Given the description of an element on the screen output the (x, y) to click on. 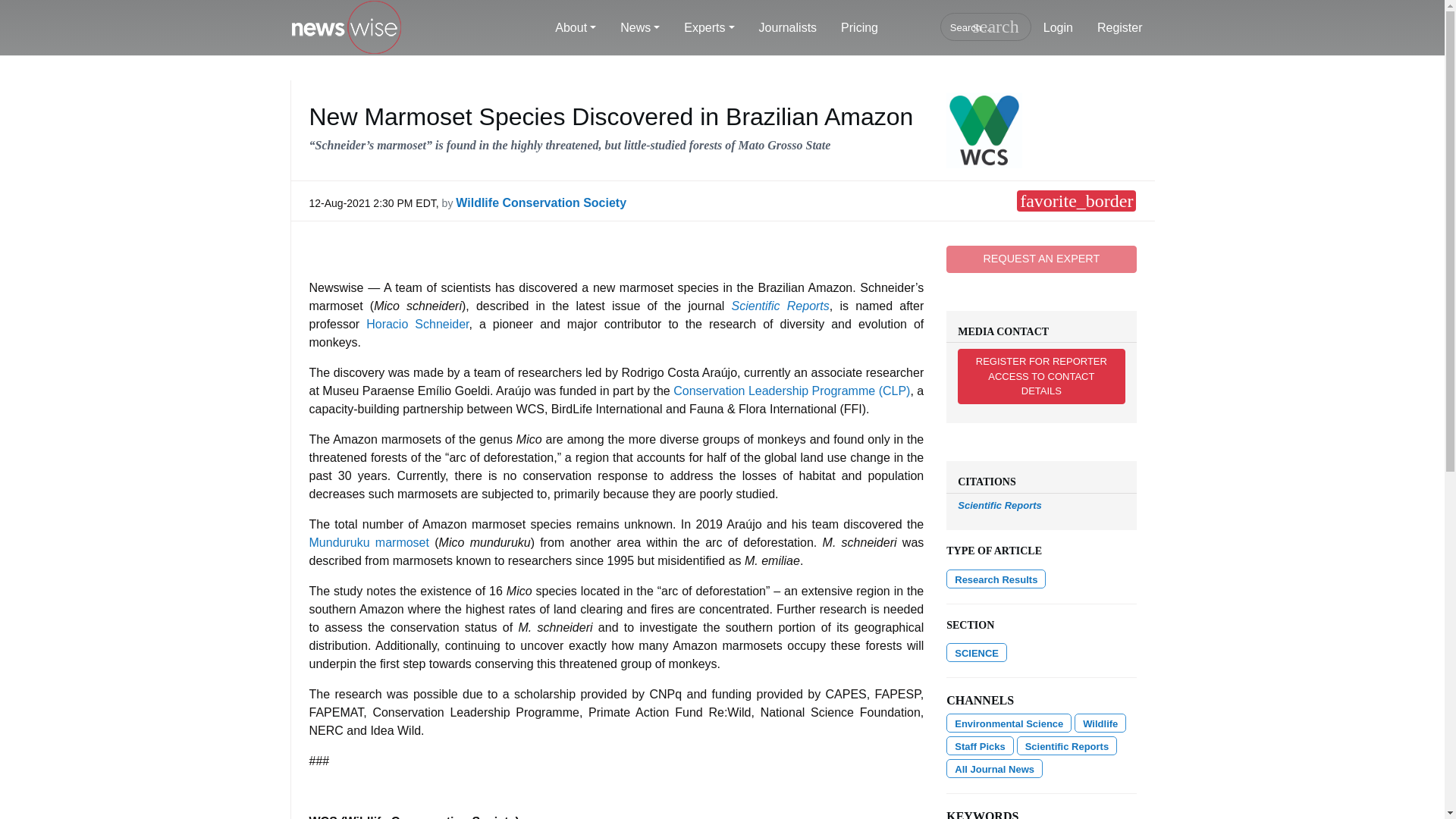
Show all articles in this channel (1008, 722)
Add to Favorites (1075, 200)
Newswise logo (345, 28)
Show all articles in this channel (1099, 722)
Show all articles in this channel (976, 651)
About (575, 27)
Research Results (995, 578)
News (639, 27)
